Given the description of an element on the screen output the (x, y) to click on. 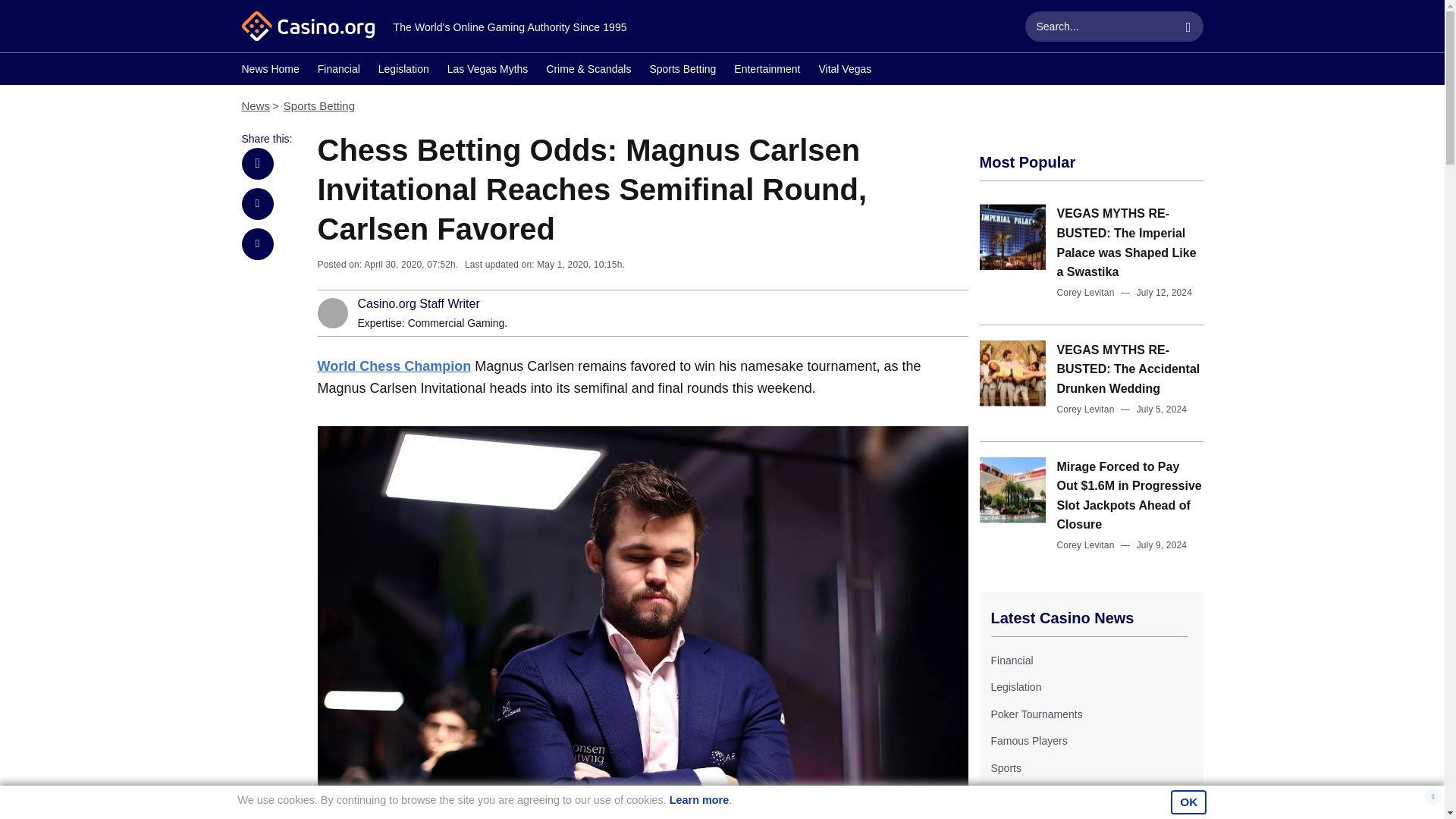
World Chess Champion (393, 365)
Sports Betting (682, 70)
Sports (1005, 767)
Financial (1011, 660)
Sports Betting (319, 105)
News (255, 105)
VEGAS MYTHS RE-BUSTED: The Accidental Drunken Wedding (1128, 368)
Entertainment (766, 70)
Casino.org Staff Writer (419, 304)
News Home (269, 70)
Financial (338, 70)
Commercial Gaming (456, 322)
Commercial Gaming (456, 322)
Mobile Gaming (1025, 794)
